Given the description of an element on the screen output the (x, y) to click on. 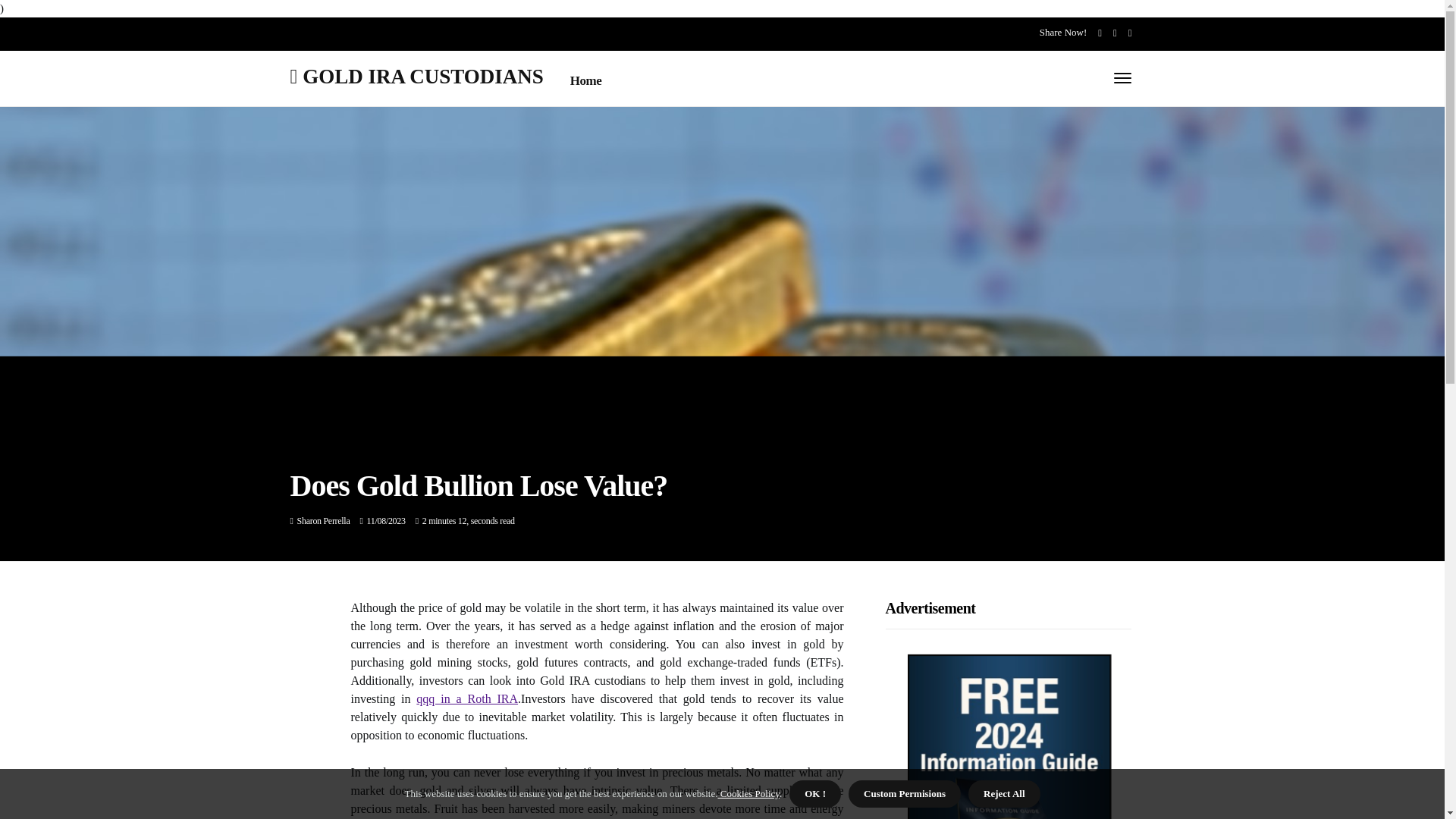
Sharon Perrella (323, 520)
Posts by Sharon Perrella (323, 520)
GOLD IRA CUSTODIANS (416, 76)
qqq in a Roth IRA (467, 697)
